Given the description of an element on the screen output the (x, y) to click on. 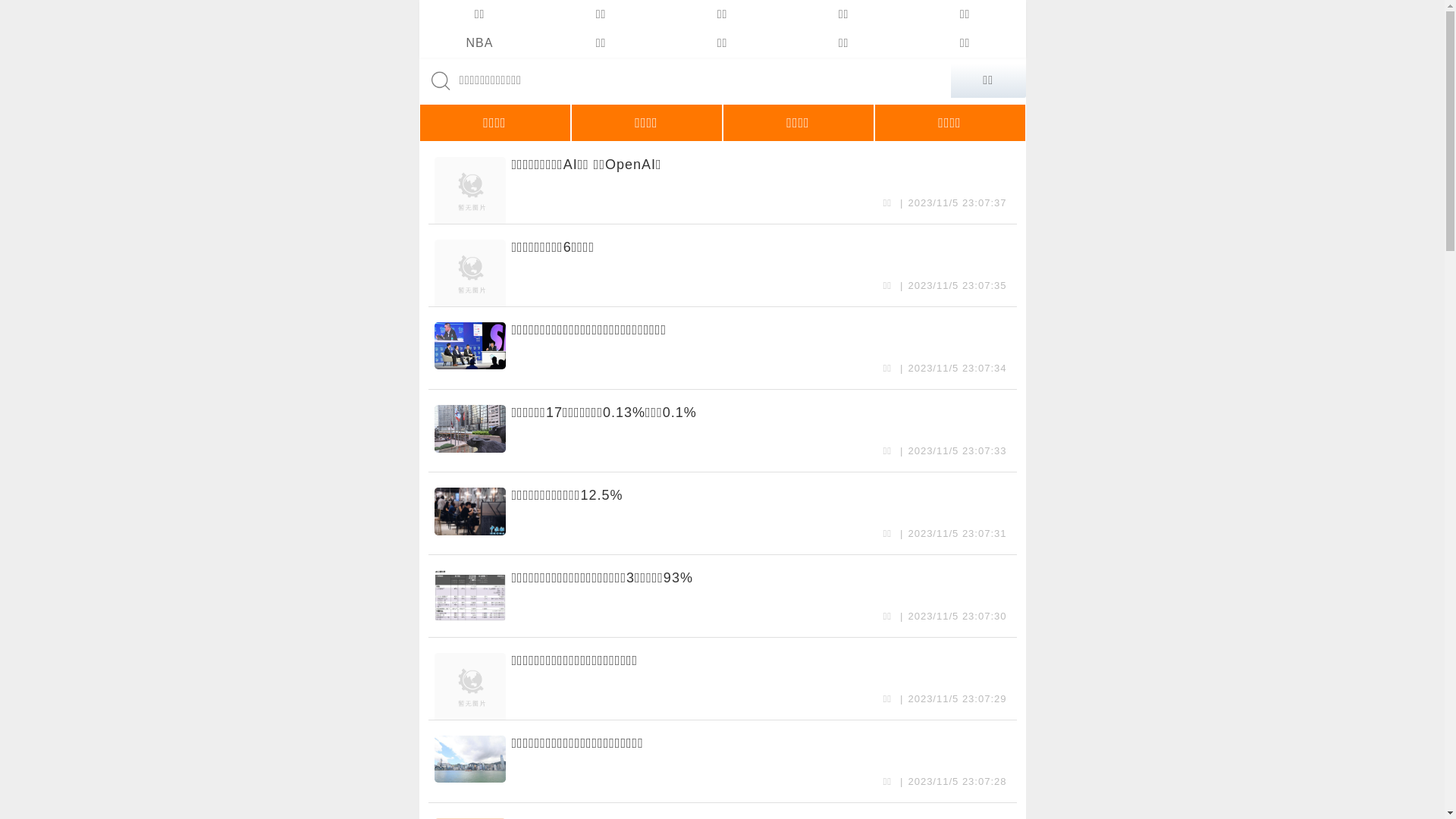
NBA Element type: text (478, 42)
